Given the description of an element on the screen output the (x, y) to click on. 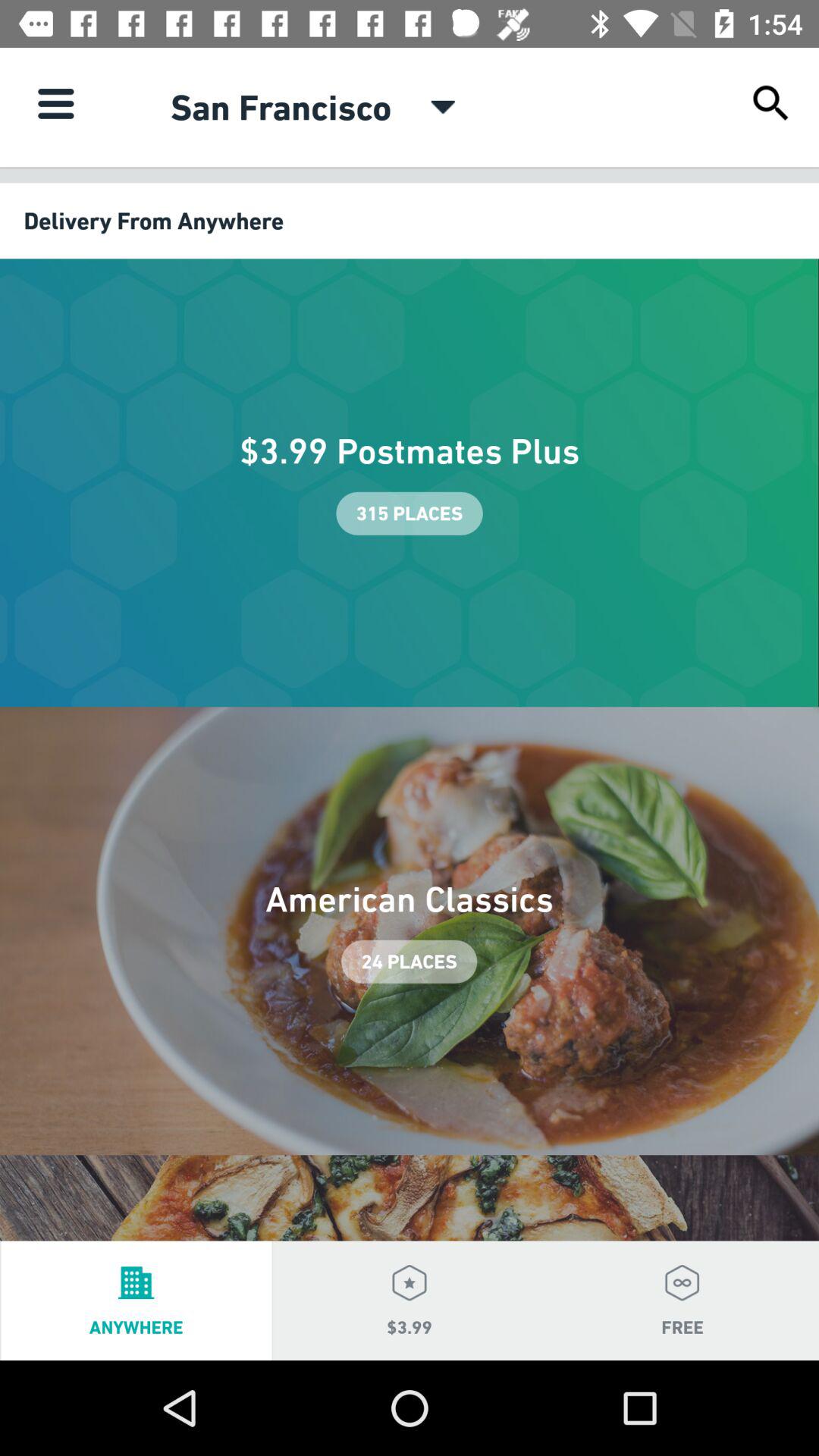
click item at the top left corner (55, 103)
